Given the description of an element on the screen output the (x, y) to click on. 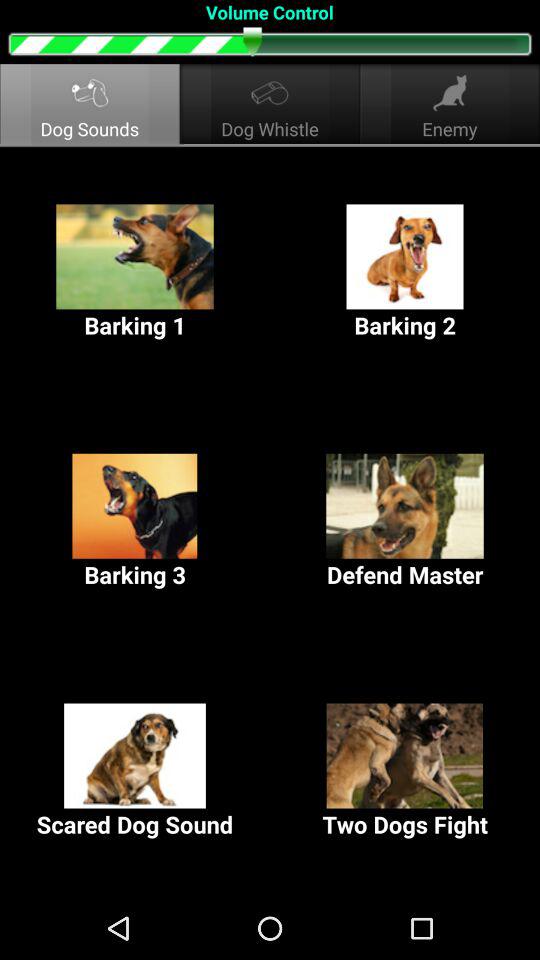
turn on icon above scared dog sound icon (405, 521)
